Given the description of an element on the screen output the (x, y) to click on. 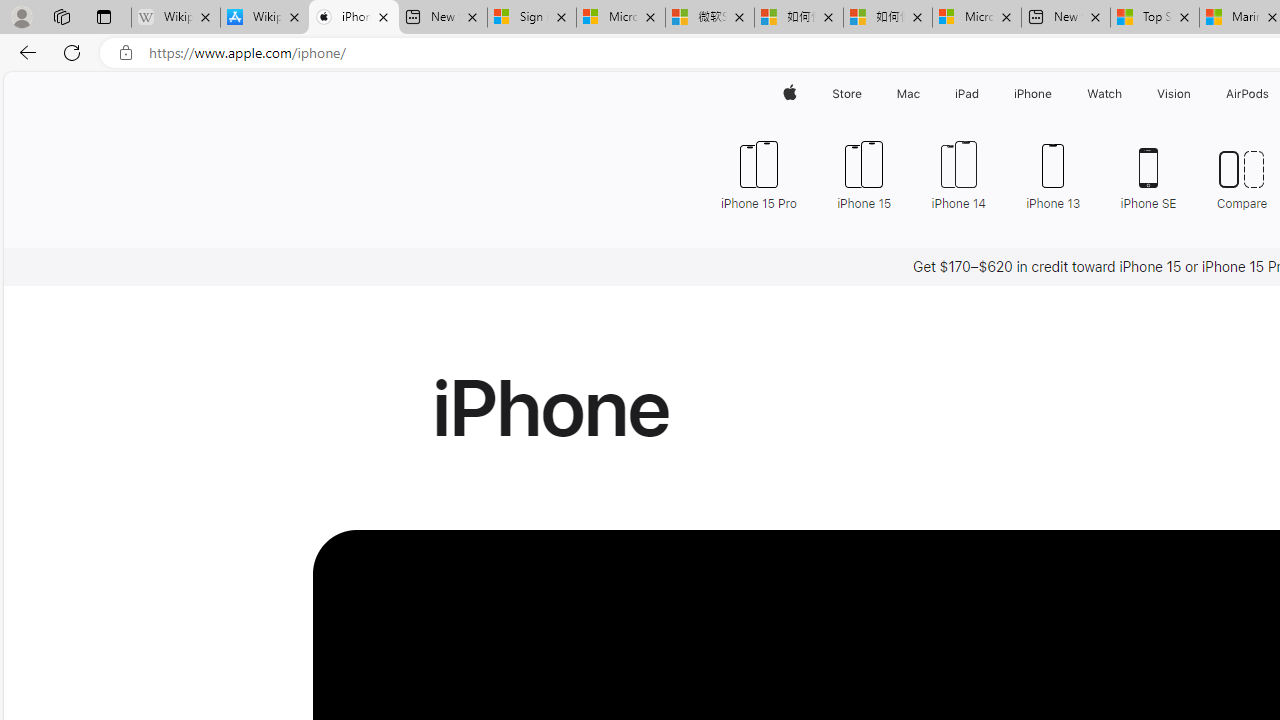
iPhone (1033, 93)
Vision menu (1195, 93)
iPhone SE (1148, 173)
iPhone - Apple (353, 17)
Compare (1242, 173)
Vision (1174, 93)
iPhone 15 (864, 173)
iPad menu (982, 93)
iPhone SE (1147, 173)
iPhone 13 (1053, 173)
Apple (789, 93)
Watch menu (1125, 93)
